Given the description of an element on the screen output the (x, y) to click on. 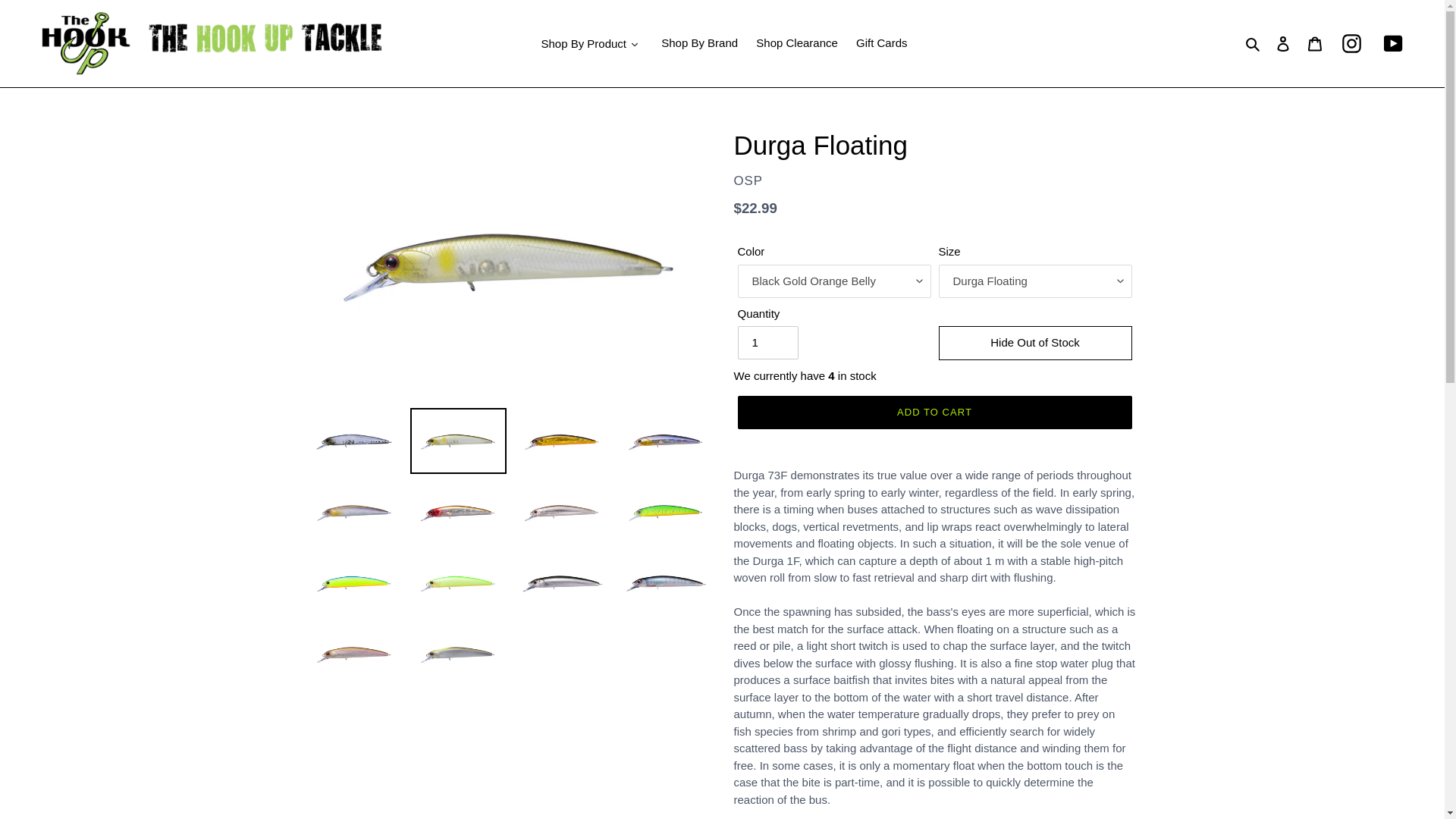
Shop By Brand (699, 43)
Instagram (1351, 43)
Cart (1314, 43)
1 (766, 342)
YouTube (1393, 43)
Log in (1282, 43)
Search (1253, 43)
Gift Cards (881, 43)
Shop By Product (589, 43)
Shop Clearance (796, 43)
Shop By Product (589, 43)
